Given the description of an element on the screen output the (x, y) to click on. 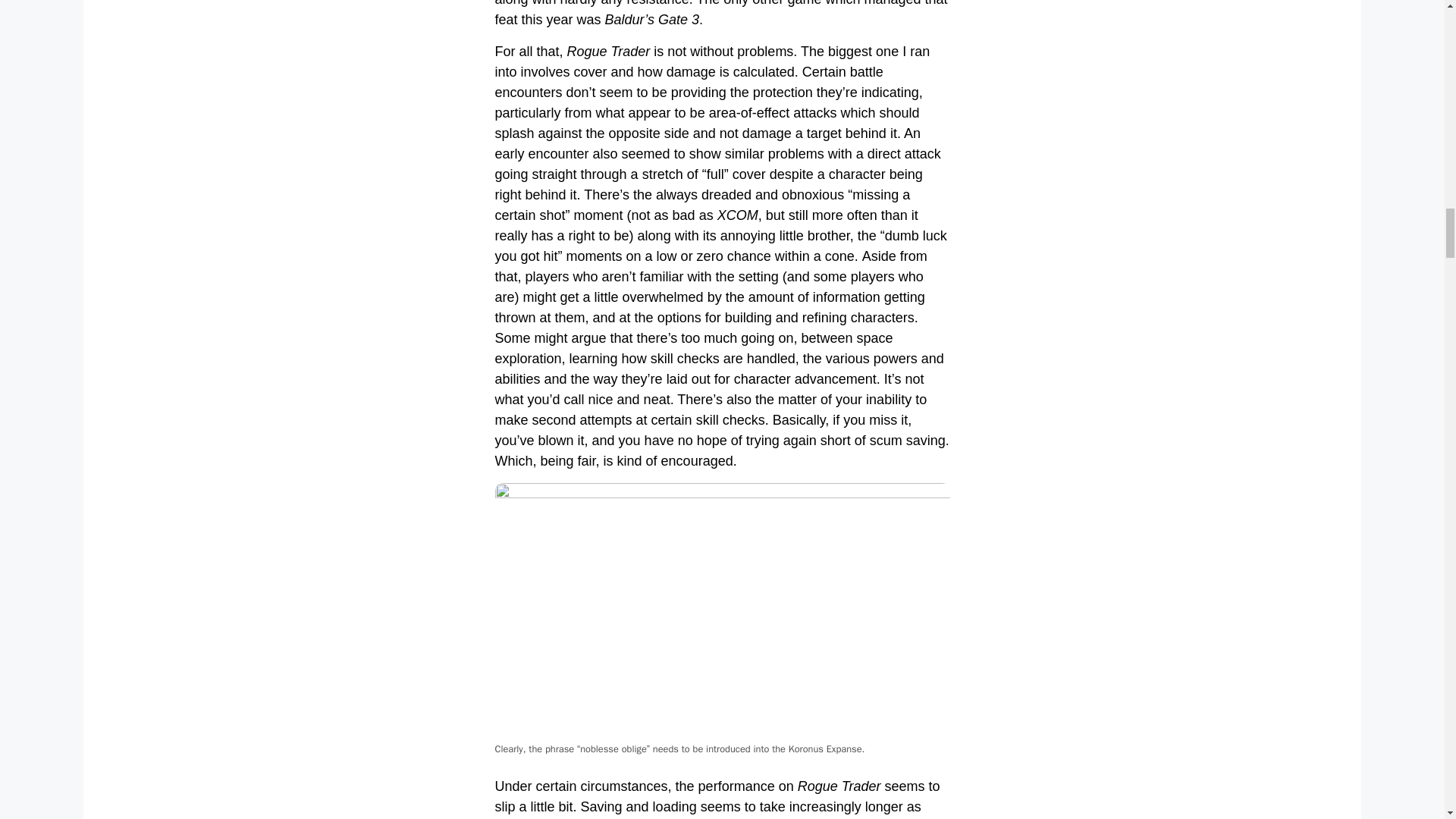
RogueTrader03 (722, 611)
